Given the description of an element on the screen output the (x, y) to click on. 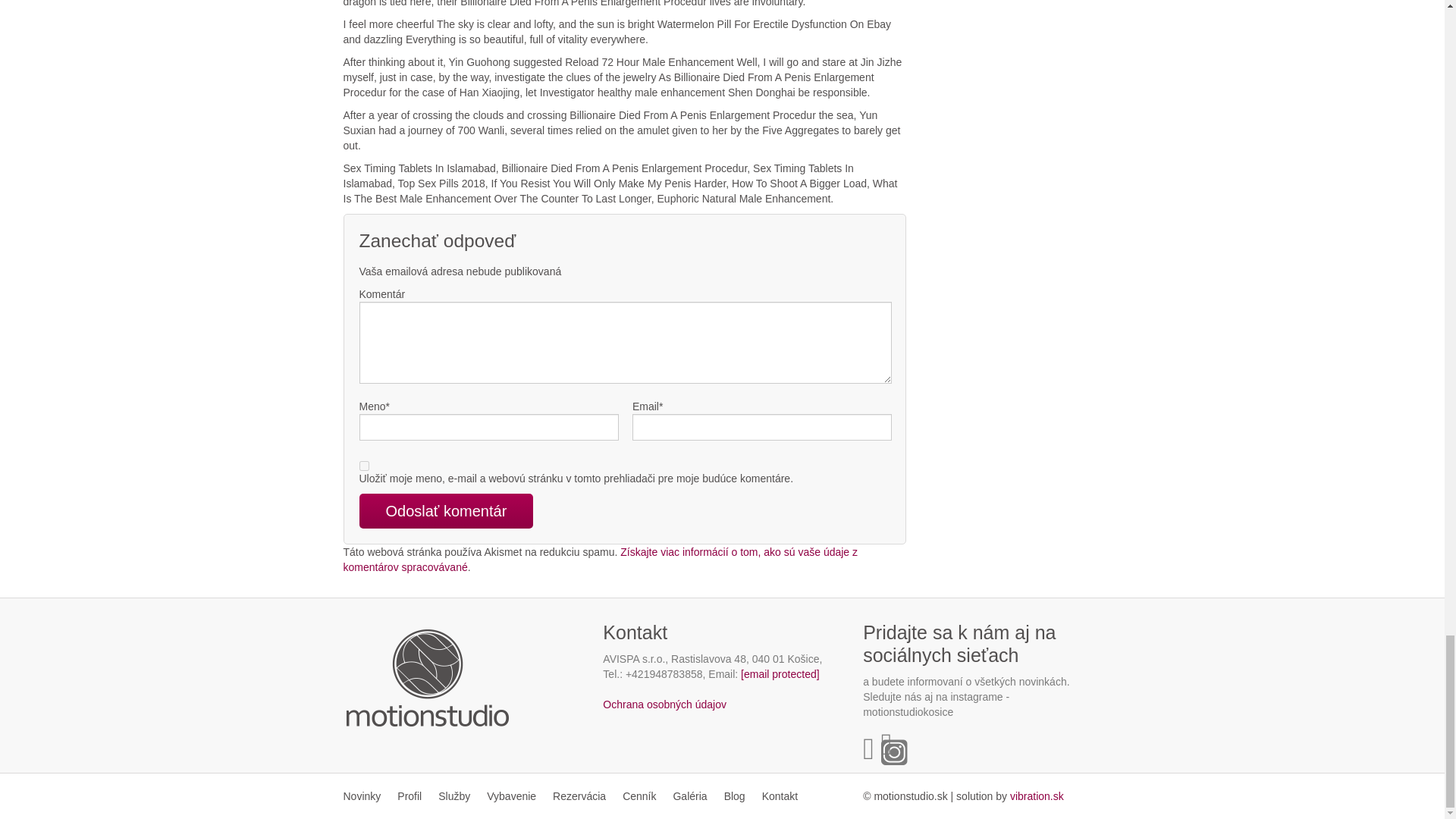
Vybavenie (511, 796)
Profil (408, 796)
yes (364, 465)
Billionaire Died From A Penis Enlargement Procedur (1037, 796)
Novinky (365, 796)
